Given the description of an element on the screen output the (x, y) to click on. 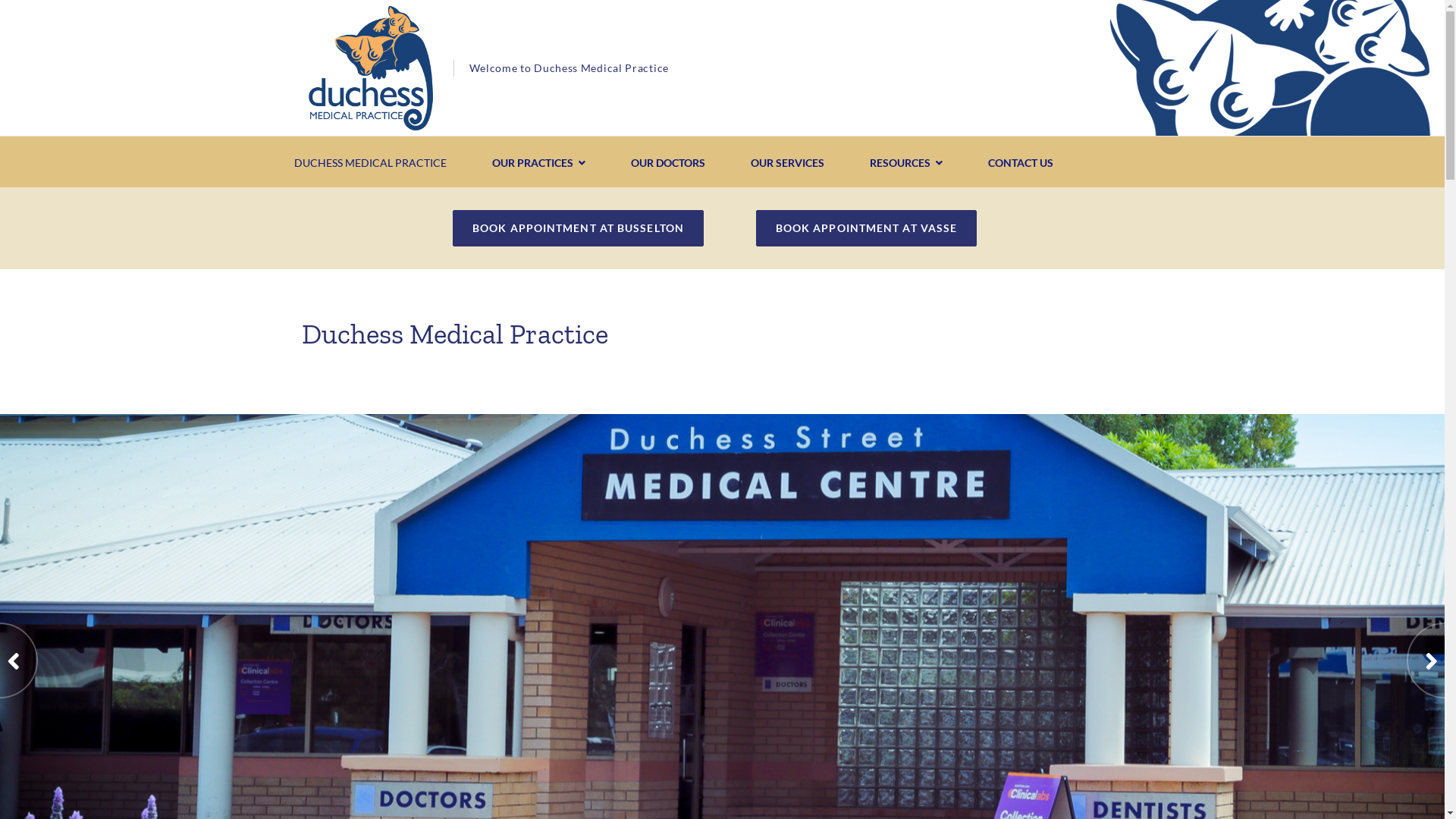
BOOK APPOINTMENT AT BUSSELTON Element type: text (577, 228)
DUCHESS MEDICAL PRACTICE Element type: text (369, 162)
OUR DOCTORS Element type: text (666, 162)
BOOK APPOINTMENT AT VASSE Element type: text (866, 228)
OUR SERVICES Element type: text (786, 162)
CONTACT US Element type: text (1020, 162)
